Given the description of an element on the screen output the (x, y) to click on. 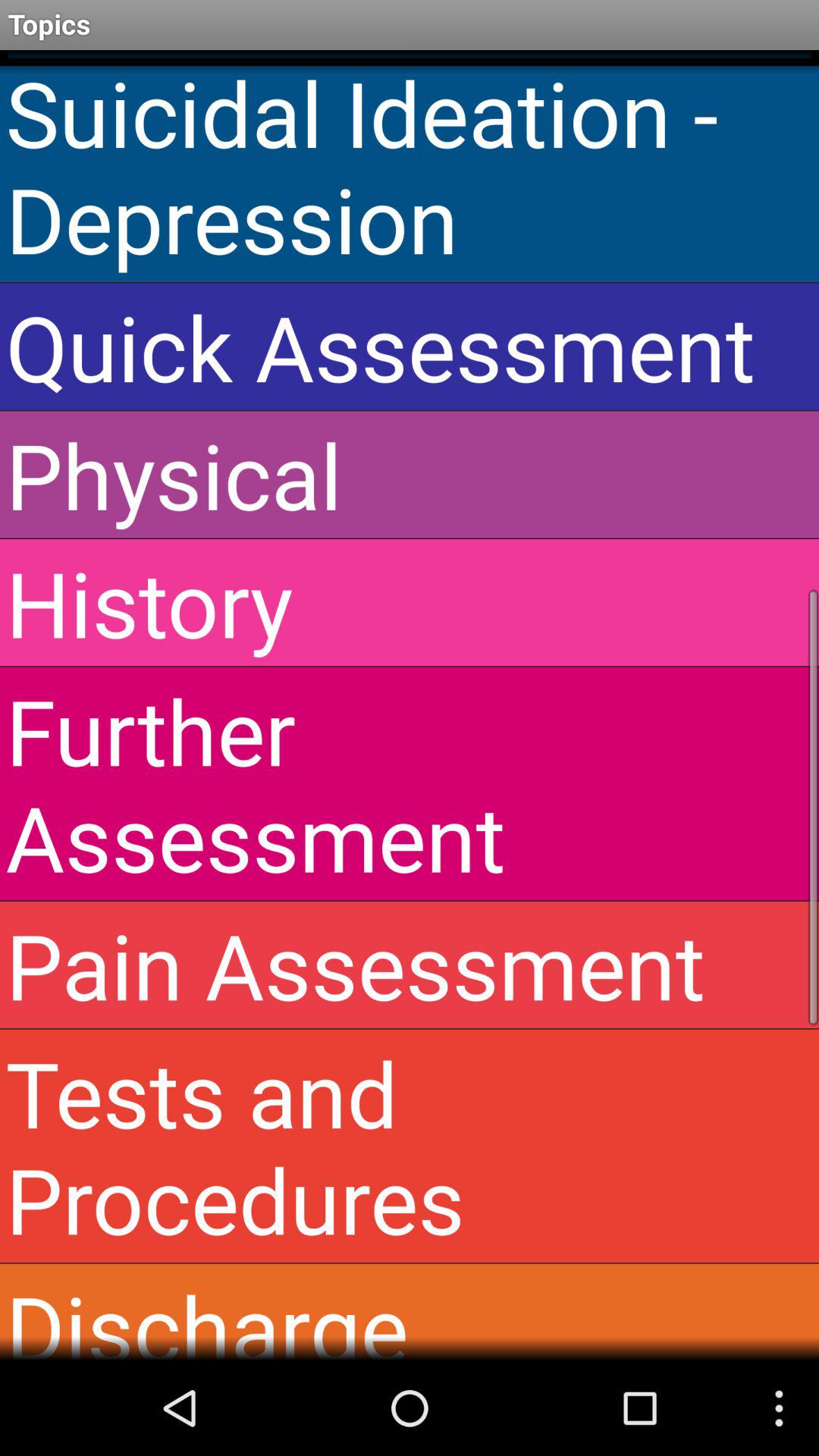
swipe to the quick assessment (409, 346)
